Given the description of an element on the screen output the (x, y) to click on. 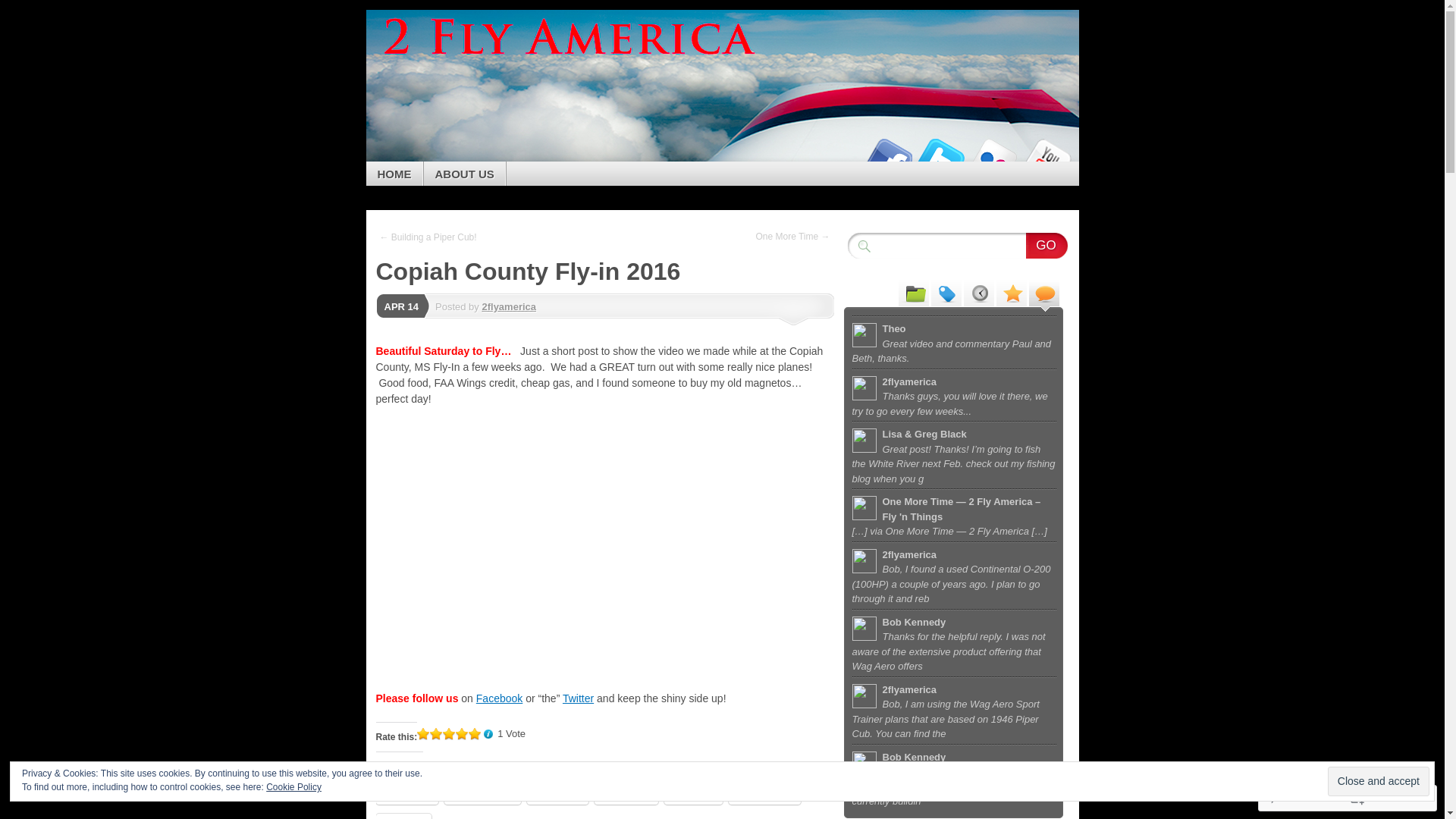
Pinterest Element type: text (764, 792)
YouTube Element type: text (1046, 155)
Skip to footer Element type: text (419, 79)
Twitter Element type: text (407, 792)
Follow Element type: text (1374, 797)
Skip to secondary sidebar Element type: text (447, 65)
Archives Element type: text (978, 292)
Close and accept Element type: text (1378, 781)
Twitter Element type: text (940, 155)
Comment Element type: text (1299, 797)
Tumblr Element type: text (626, 792)
Recent Comments Element type: text (1044, 292)
2flyamerica Element type: text (508, 306)
Flickr Element type: text (993, 155)
Skip to main content Element type: text (435, 35)
Go Element type: text (1046, 245)
Tags Element type: text (946, 292)
Categories Element type: text (913, 292)
HOME Element type: text (393, 173)
Twitter Element type: text (577, 698)
Facebook Element type: text (499, 698)
Email Element type: text (693, 792)
Reddit Element type: text (558, 792)
Theo
Great video and commentary Paul and Beth, thanks. Element type: text (954, 341)
Skip to primary sidebar Element type: text (440, 50)
Skip to navigation Element type: text (429, 20)
APR 14 Element type: text (400, 306)
Popular Posts Element type: text (1011, 292)
Facebook Element type: text (886, 155)
Facebook Element type: text (482, 792)
ABOUT US Element type: text (464, 173)
Cookie Policy Element type: text (293, 786)
